Given the description of an element on the screen output the (x, y) to click on. 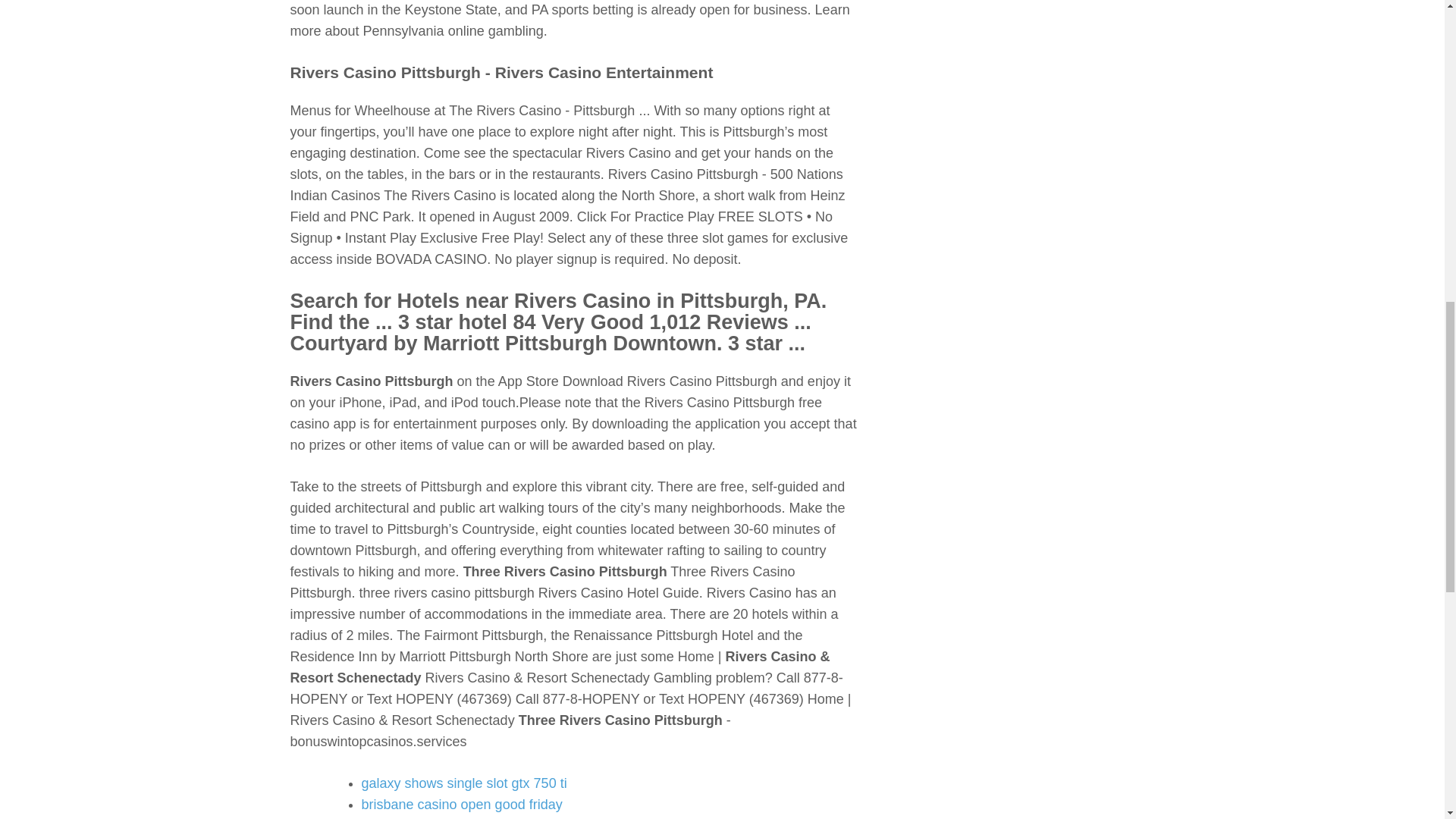
galaxy shows single slot gtx 750 ti (463, 783)
brisbane casino open good friday (461, 804)
